Given the description of an element on the screen output the (x, y) to click on. 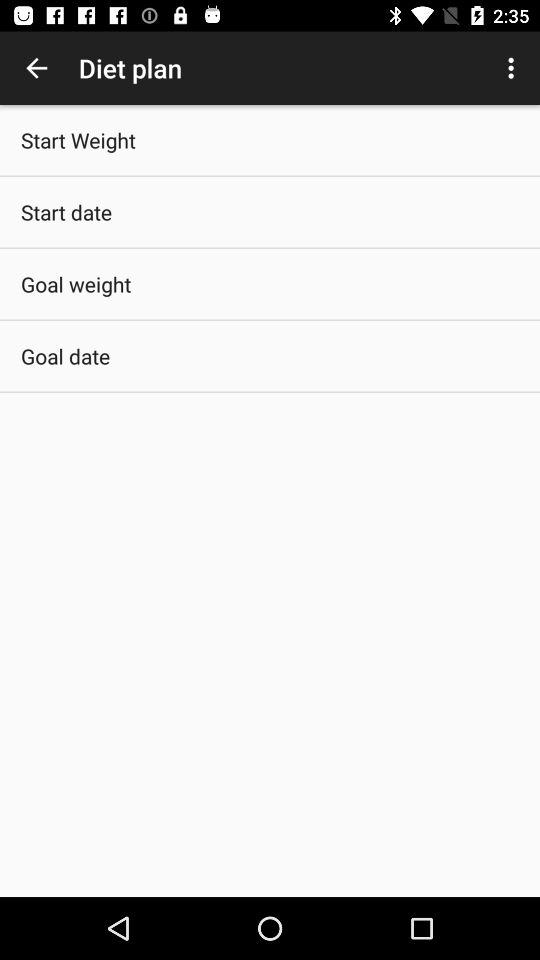
turn on the start date icon (66, 211)
